Given the description of an element on the screen output the (x, y) to click on. 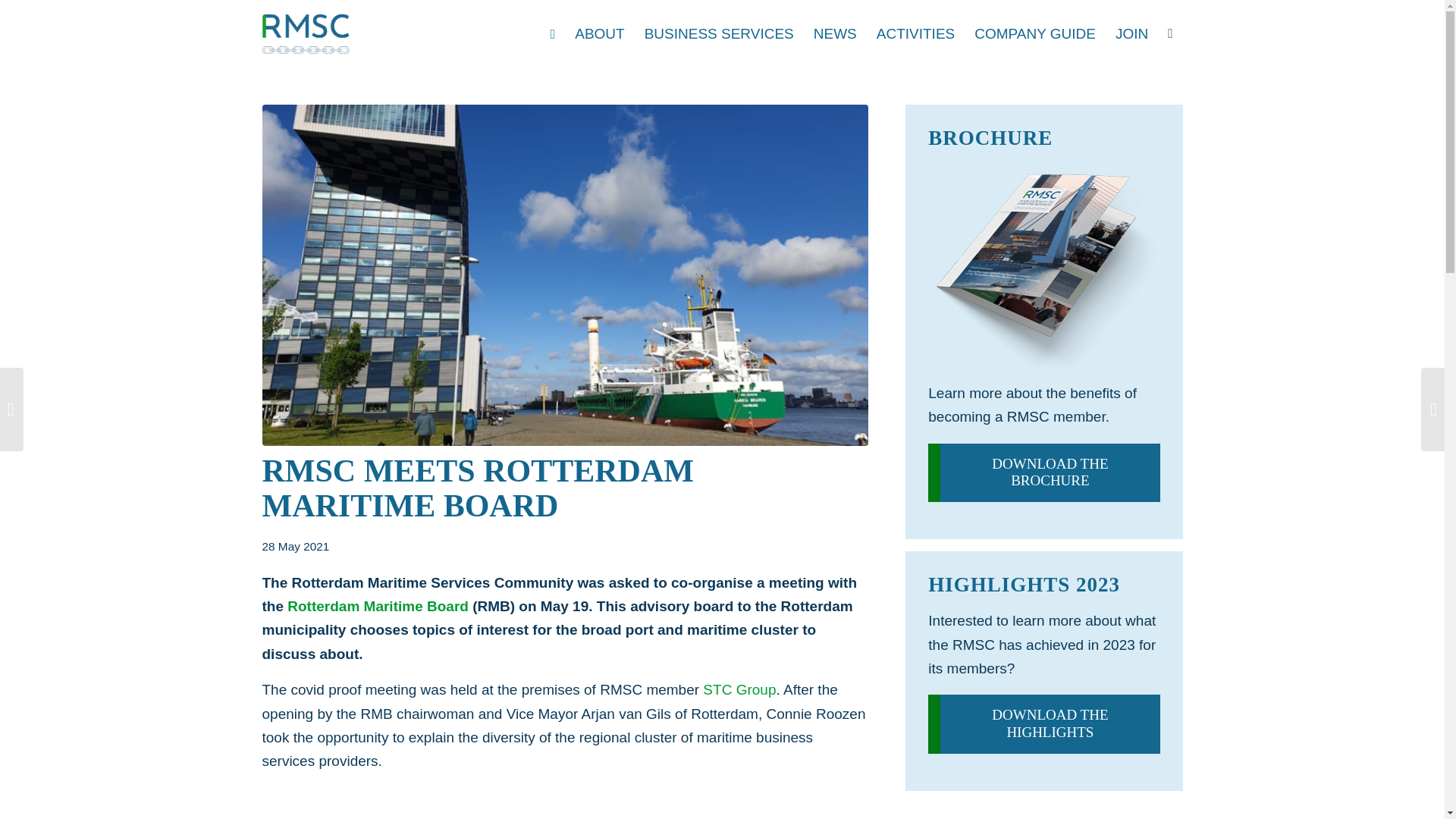
STC Group (739, 689)
DOWNLOAD THE HIGHLIGHTS (1043, 723)
DOWNLOAD THE BROCHURE (1043, 472)
rmsc-logo (306, 34)
ACTIVITIES (914, 33)
BUSINESS SERVICES (718, 33)
COMPANY GUIDE (1034, 33)
NEWS (834, 33)
ABOUT (598, 33)
Rotterdam Maritime Board (377, 606)
rmsc-logo (306, 33)
